Given the description of an element on the screen output the (x, y) to click on. 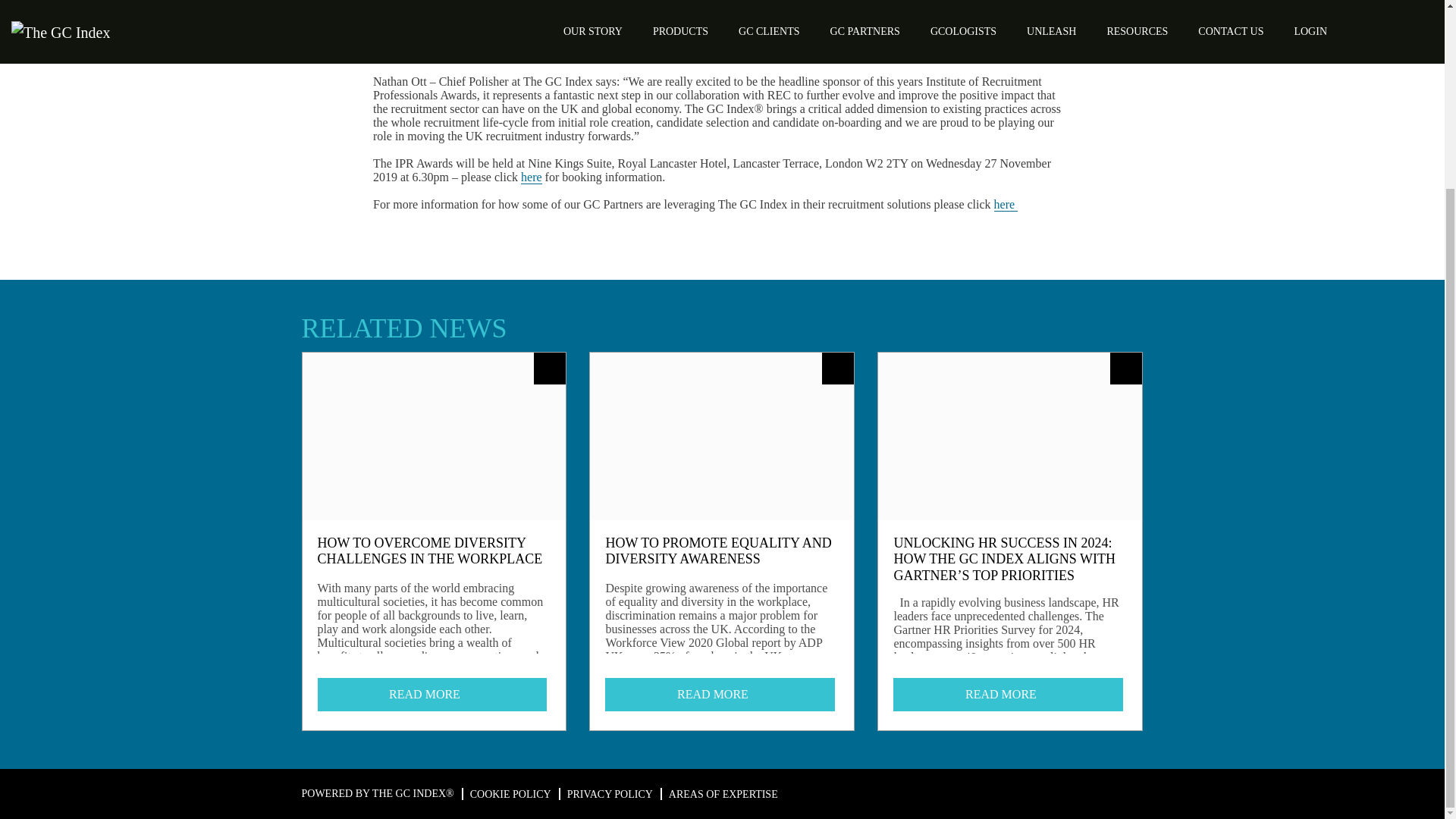
How to overcome diversity challenges in the workplace (432, 694)
How to promote equality and diversity awareness (719, 694)
